Given the description of an element on the screen output the (x, y) to click on. 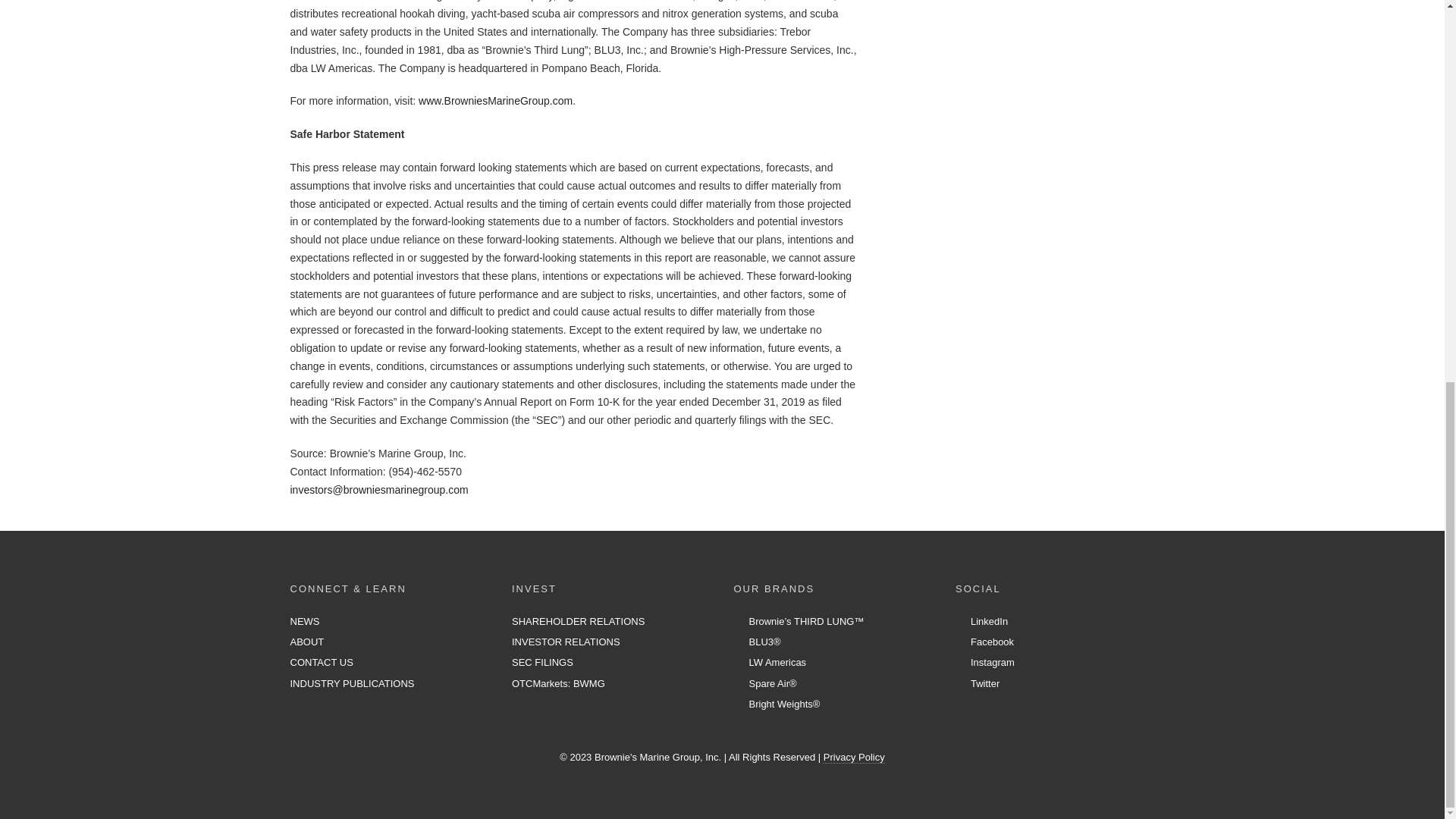
OTCMarkets: BWMG (558, 683)
www.BrowniesMarineGroup.com (495, 101)
ABOUT (306, 641)
Facebook (984, 641)
SHAREHOLDER RELATIONS (578, 621)
Twitter (976, 683)
SEC FILINGS (542, 662)
INDUSTRY PUBLICATIONS (351, 683)
LinkedIn (981, 621)
Instagram (984, 662)
